Given the description of an element on the screen output the (x, y) to click on. 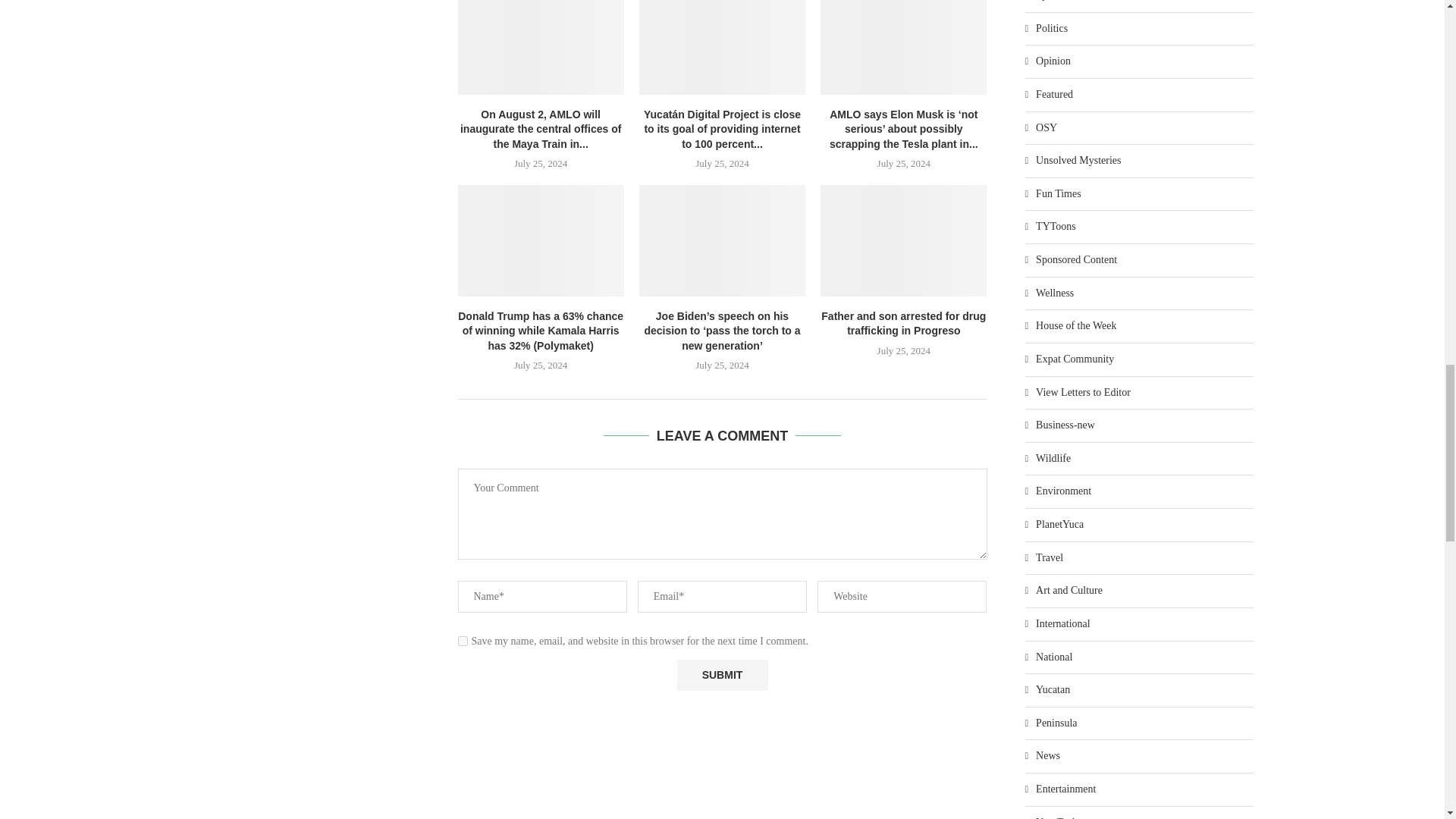
Submit (722, 675)
Father and son arrested for drug trafficking in Progreso (904, 240)
yes (462, 641)
